Given the description of an element on the screen output the (x, y) to click on. 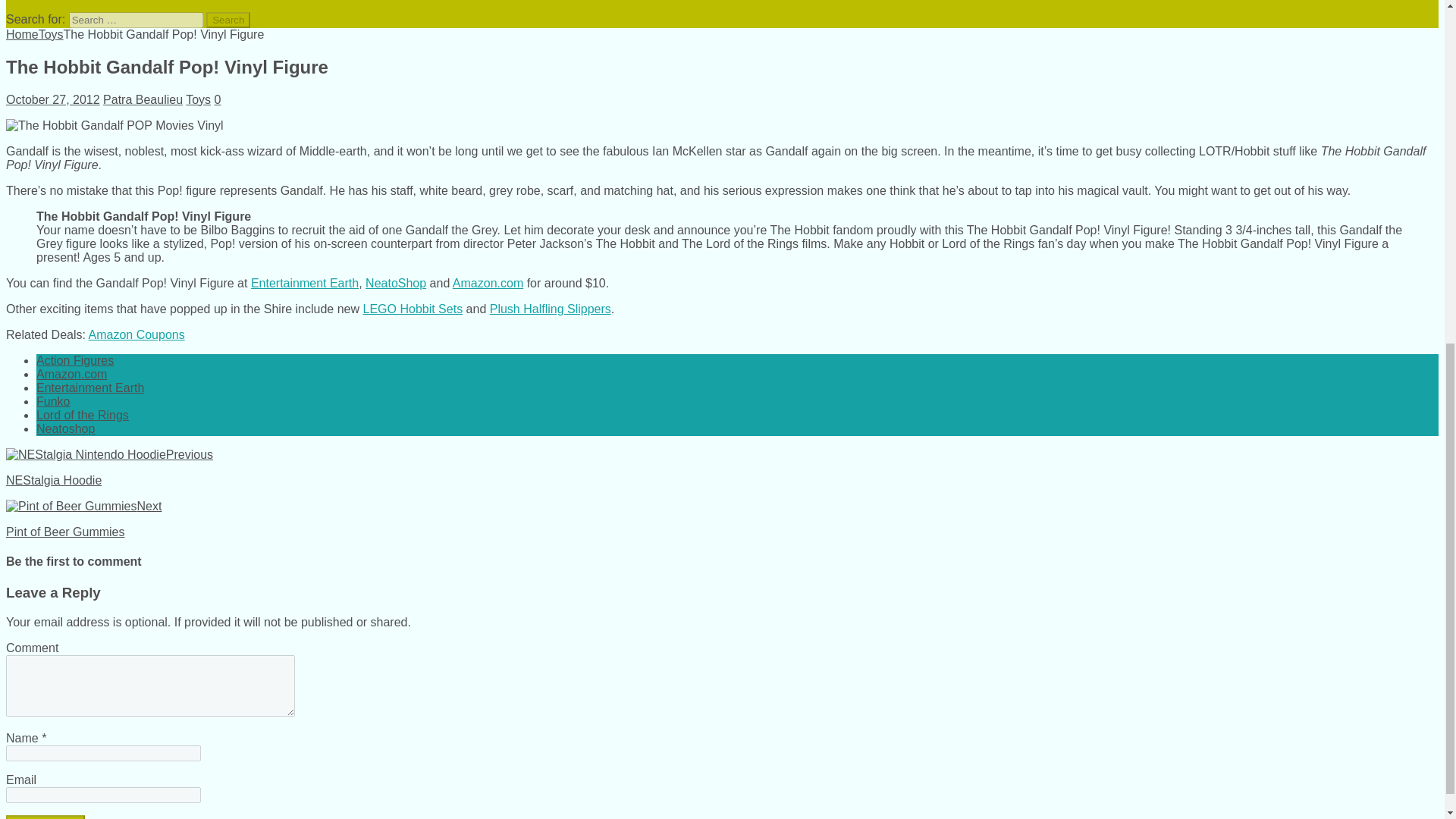
Search (228, 19)
Home (22, 33)
Search (228, 19)
Search (228, 19)
The Hobbit Gandalf POP Movies Vinyl (114, 125)
